Given the description of an element on the screen output the (x, y) to click on. 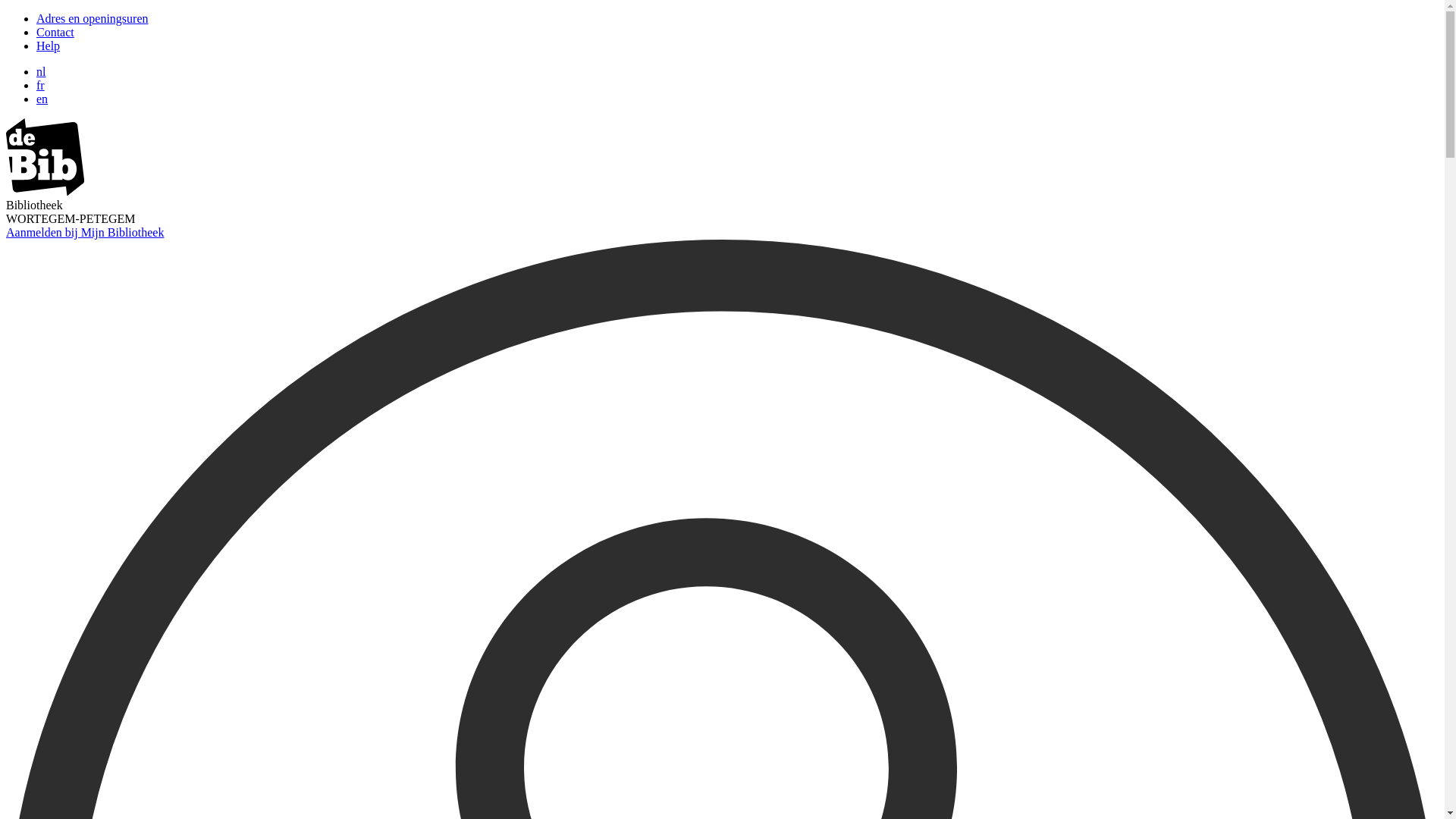
Aanmelden bij Mijn Bibliotheek Element type: text (84, 231)
en Element type: text (41, 98)
Contact Element type: text (55, 31)
nl Element type: text (40, 71)
Overslaan en naar zoeken gaan Element type: text (6, 12)
image/svg+xml Element type: text (45, 191)
Adres en openingsuren Element type: text (92, 18)
Help Element type: text (47, 45)
fr Element type: text (40, 84)
